Given the description of an element on the screen output the (x, y) to click on. 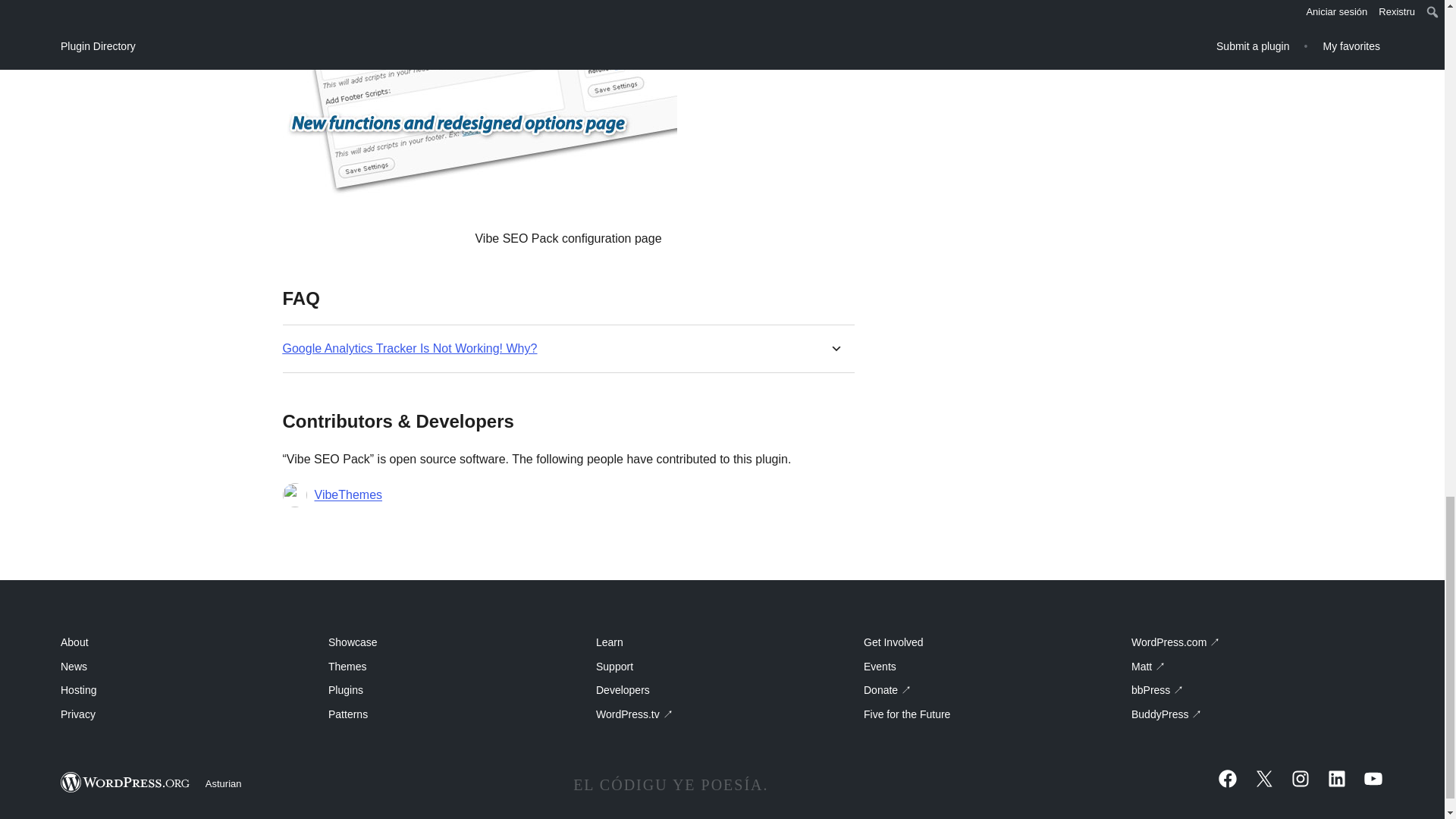
VibeThemes (347, 495)
Google Analytics Tracker Is Not Working! Why? (409, 348)
WordPress.org (125, 782)
